Given the description of an element on the screen output the (x, y) to click on. 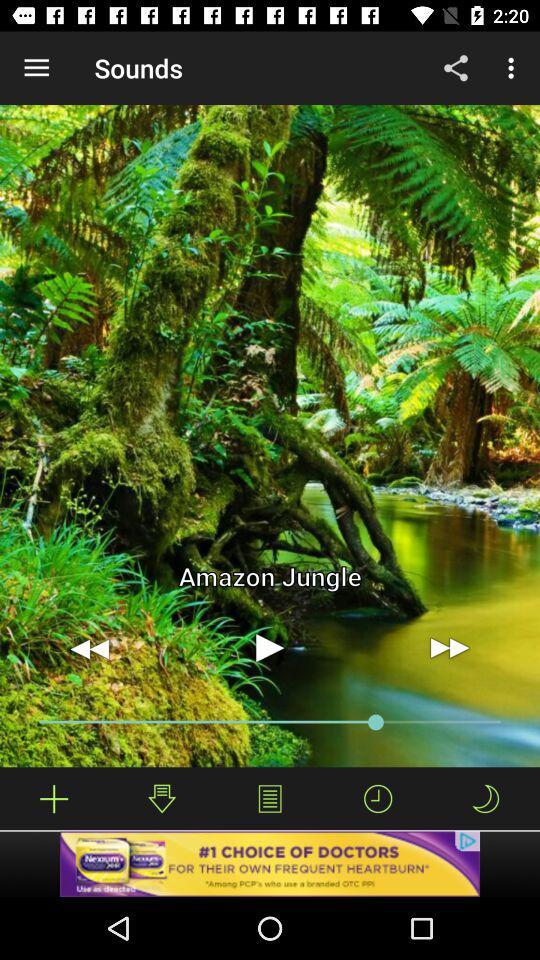
hide timeline (378, 798)
